Given the description of an element on the screen output the (x, y) to click on. 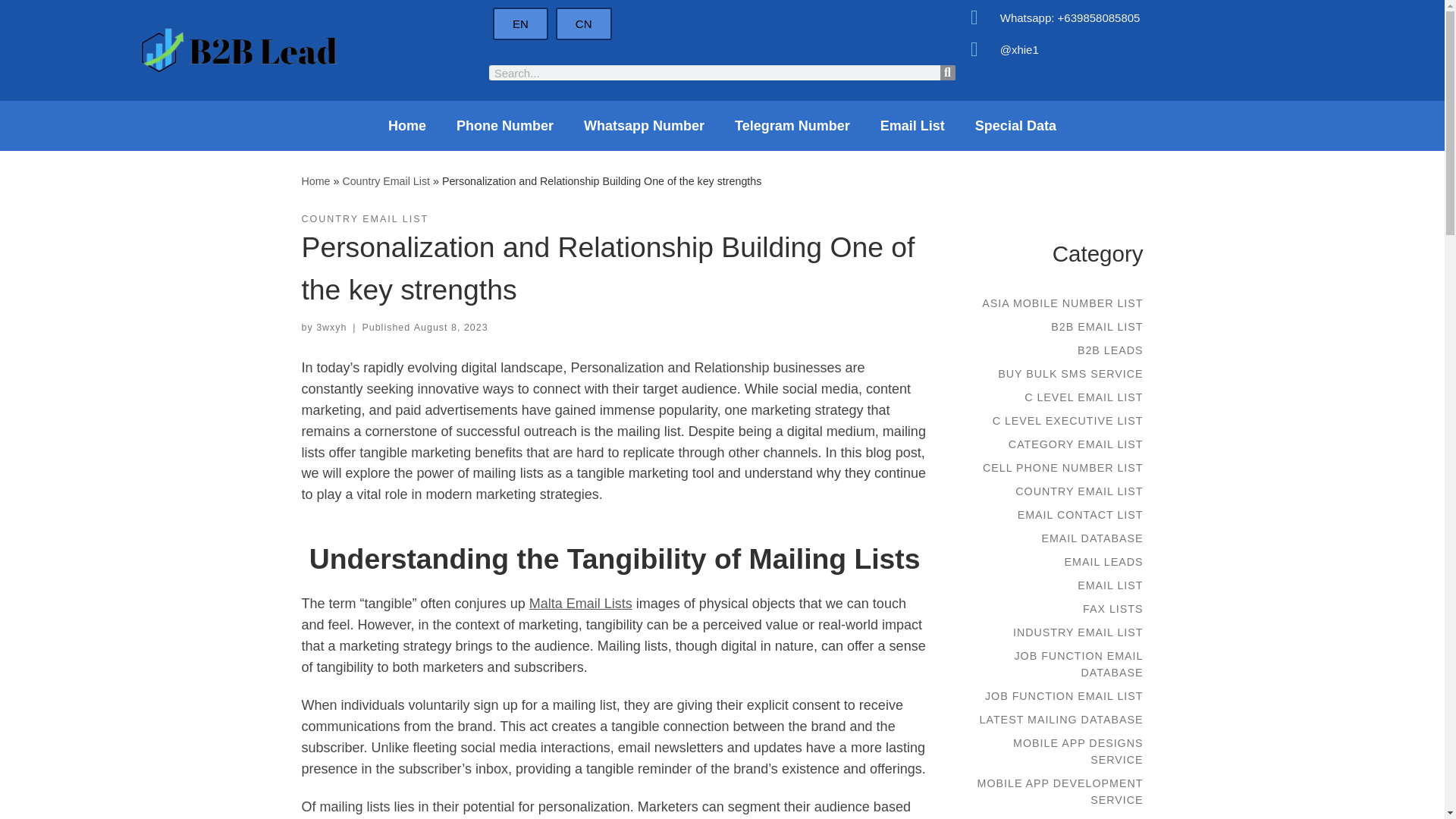
Country Email List (385, 180)
EN (520, 23)
Telegram Number (791, 125)
View all posts by 3wxyh (330, 327)
August 8, 2023 (450, 327)
Home (315, 180)
View all posts in Country Email List (365, 219)
10:51 am (450, 327)
Special Data (1015, 125)
Whatsapp Number (644, 125)
Phone Number (505, 125)
Malta Email Lists (580, 603)
B2B Lead (315, 180)
COUNTRY EMAIL LIST (365, 219)
Email List (911, 125)
